Given the description of an element on the screen output the (x, y) to click on. 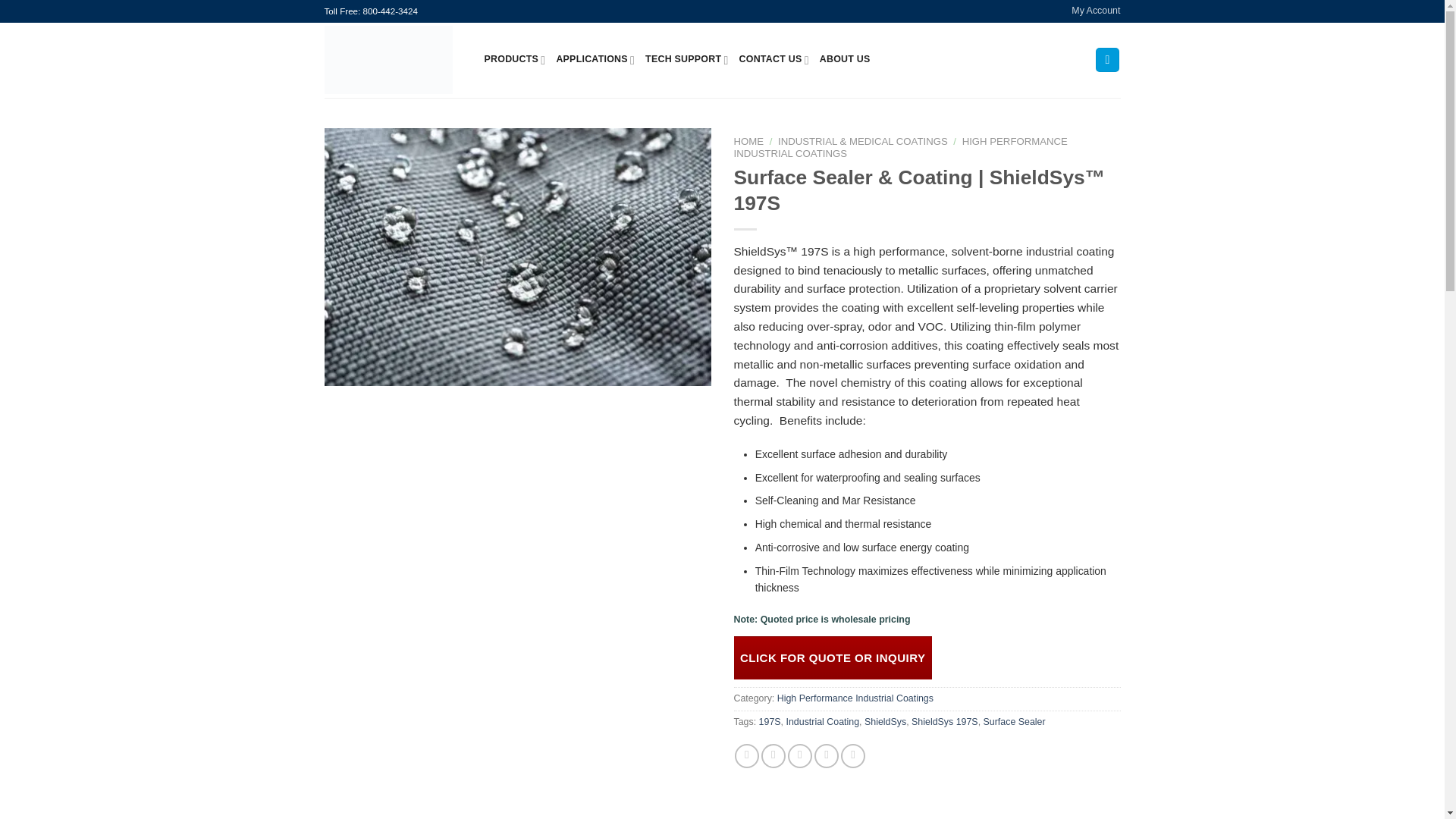
HOME (748, 141)
My Account (1095, 11)
ABOUT US (844, 60)
Share on Facebook (746, 755)
Miller-Stephenson Chemicals - Since 1955 (392, 59)
Pin on Pinterest (825, 755)
Email to a Friend (799, 755)
TECH SUPPORT (686, 60)
PRODUCTS (513, 60)
CONTACT US (774, 60)
